Given the description of an element on the screen output the (x, y) to click on. 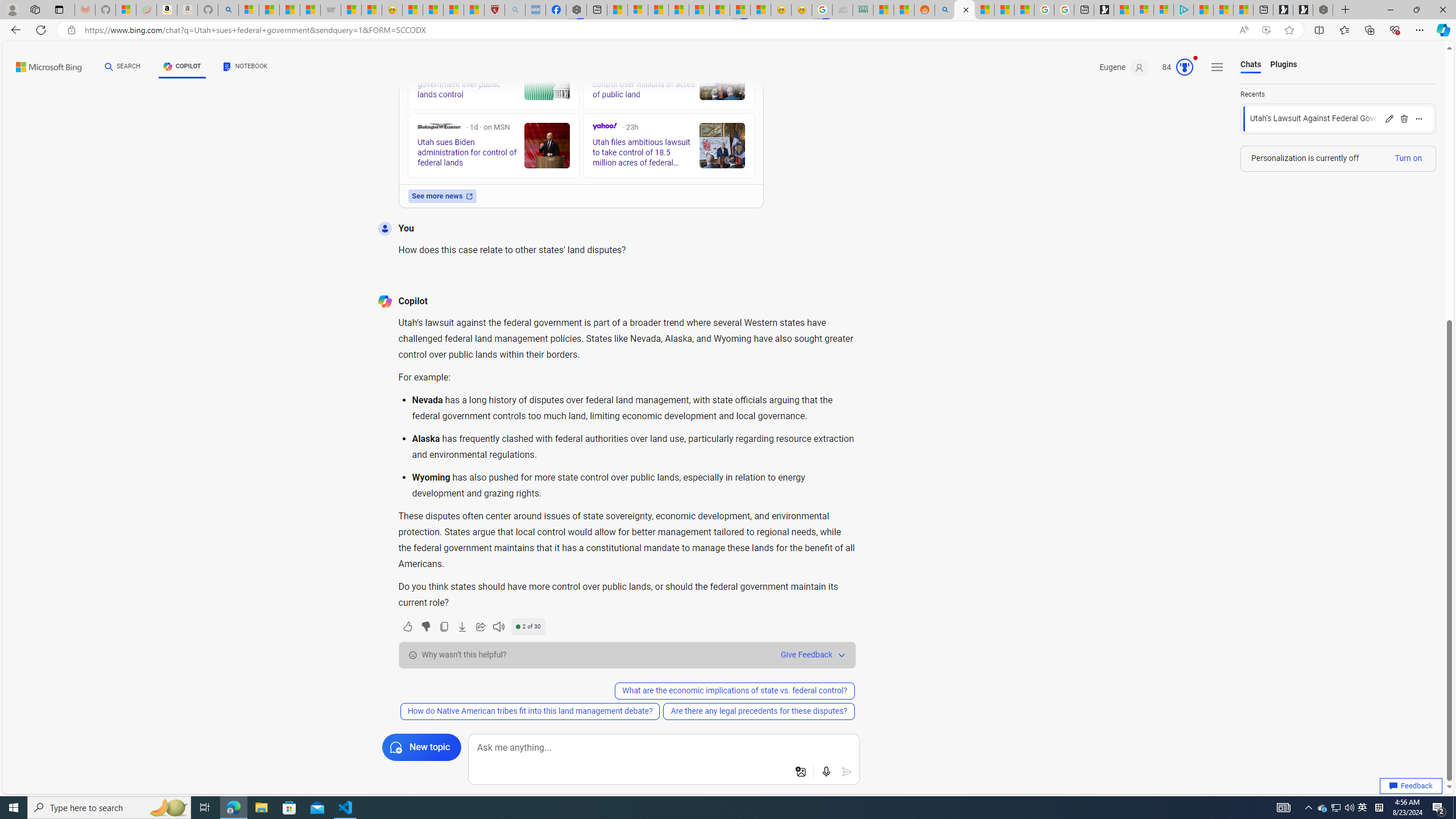
Boise State Public Radio (596, 58)
Ask me anything... (663, 748)
Yahoo (604, 125)
AutomationID: rh_meter (1184, 66)
NOTEBOOK (245, 66)
